Given the description of an element on the screen output the (x, y) to click on. 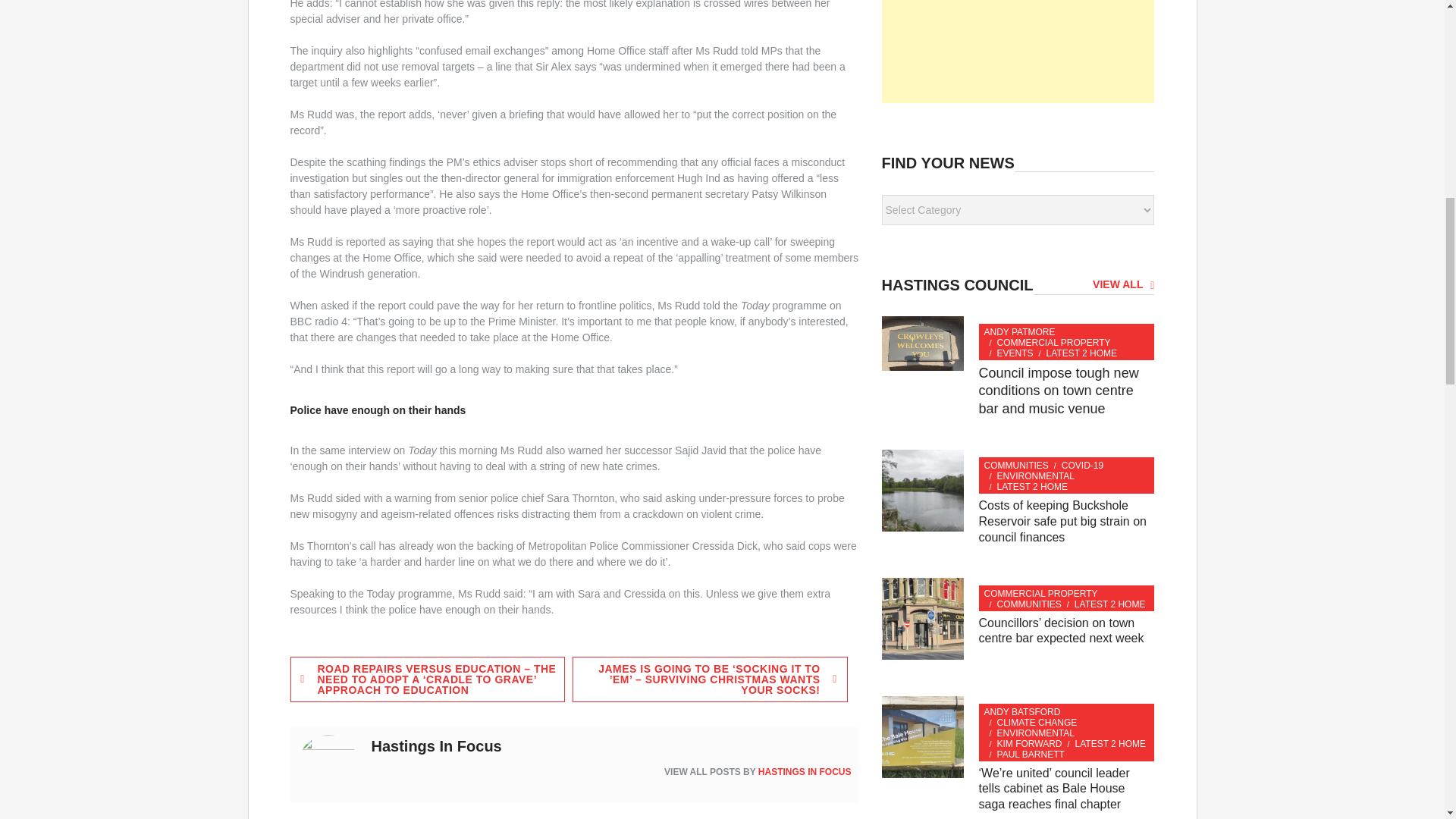
LATEST 2 HOME (1032, 486)
COMMUNITIES (1029, 603)
Advertisement (1018, 51)
ENVIRONMENTAL (1035, 475)
EVENTS (1015, 353)
ANDY PATMORE (1019, 331)
COMMERCIAL PROPERTY (1040, 593)
LATEST 2 HOME (1082, 353)
LATEST 2 HOME (1109, 603)
HASTINGS IN FOCUS (804, 771)
COMMUNITIES (1016, 465)
COMMERCIAL PROPERTY (1053, 342)
VIEW ALL (1123, 284)
